Given the description of an element on the screen output the (x, y) to click on. 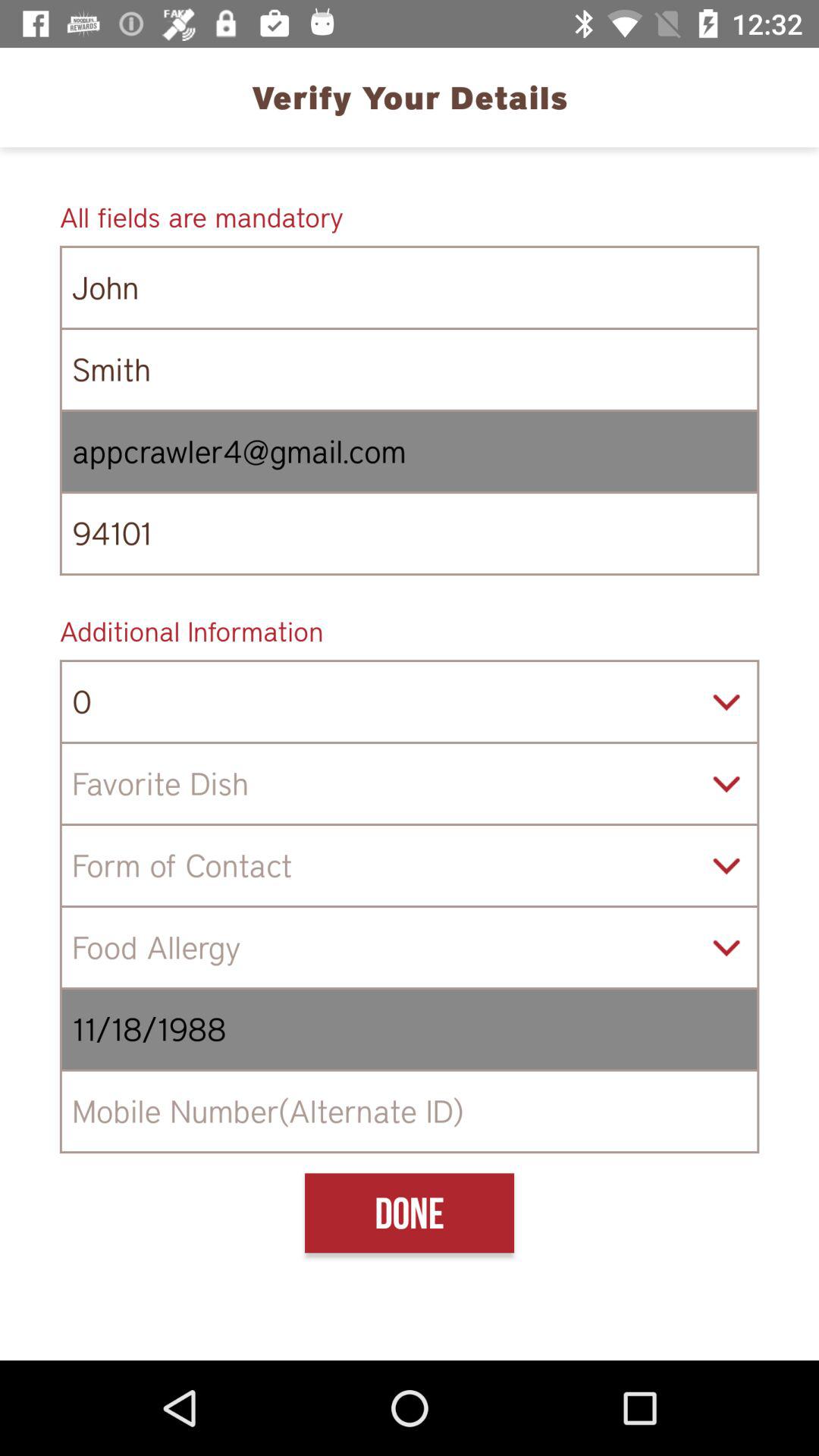
enter mobile number (409, 1111)
